Given the description of an element on the screen output the (x, y) to click on. 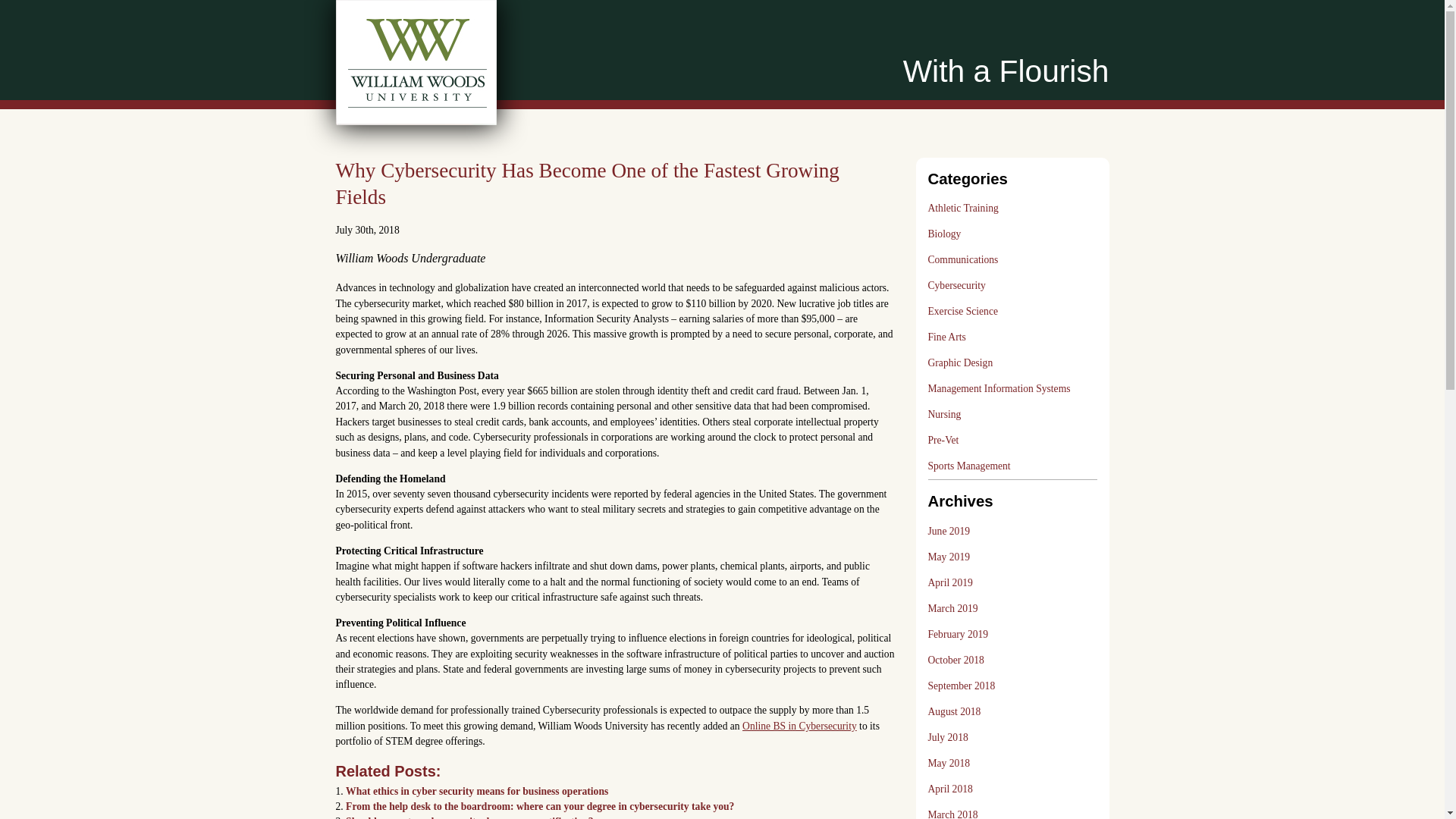
July 2018 (948, 737)
March 2018 (953, 810)
Management Information Systems (999, 389)
Online BS in Cybersecurity (799, 726)
June 2019 (949, 531)
April 2018 (950, 789)
May 2018 (949, 763)
With a Flourish (1005, 71)
